Given the description of an element on the screen output the (x, y) to click on. 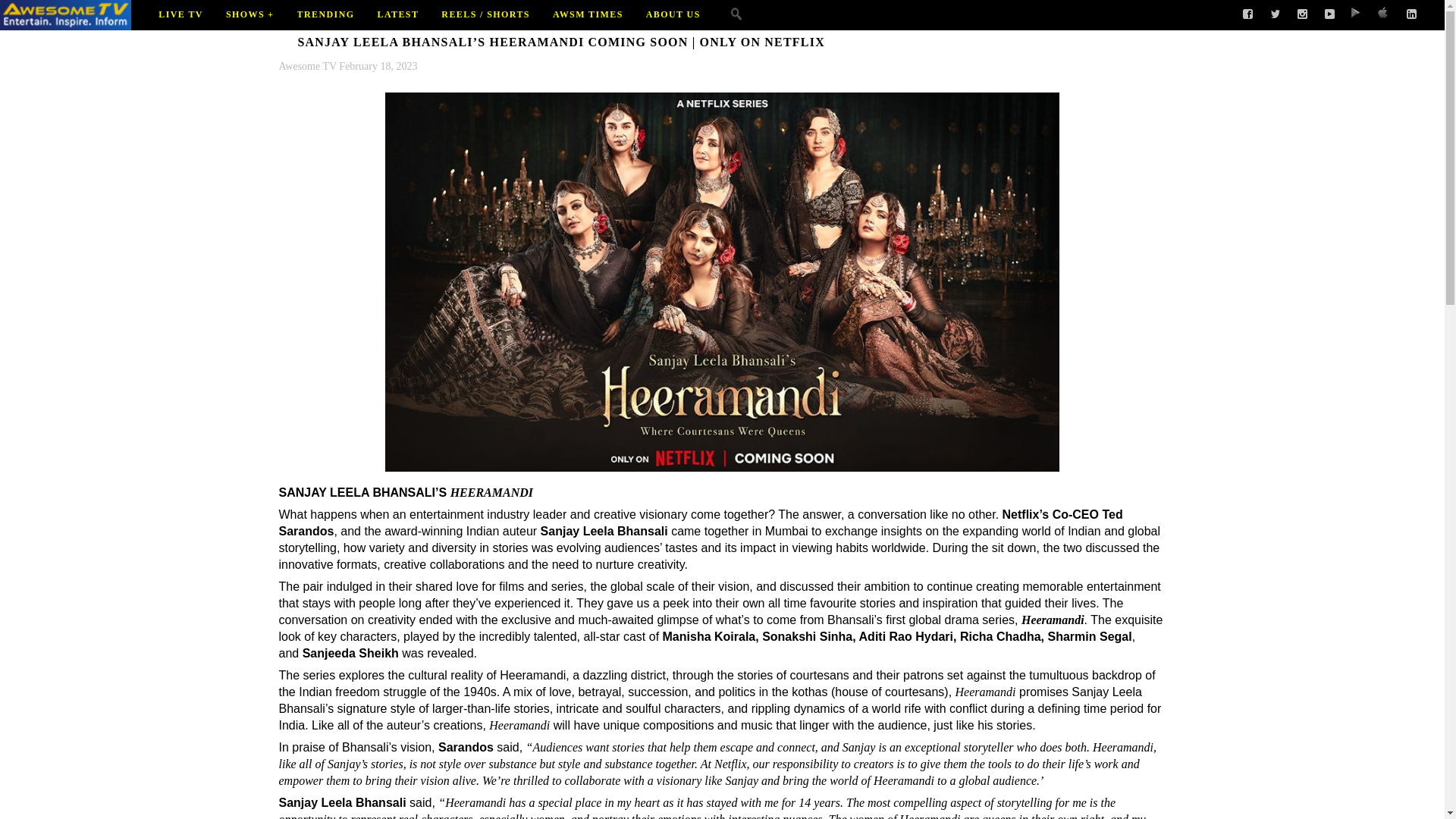
Playstore (1357, 14)
Apple (1384, 14)
ABOUT US (673, 29)
Linked In (1412, 14)
TRENDING (326, 29)
Youtube (1330, 14)
Twitter (1275, 14)
AWSM TIMES (588, 29)
Instagram (1302, 14)
Facebook (1247, 14)
